Given the description of an element on the screen output the (x, y) to click on. 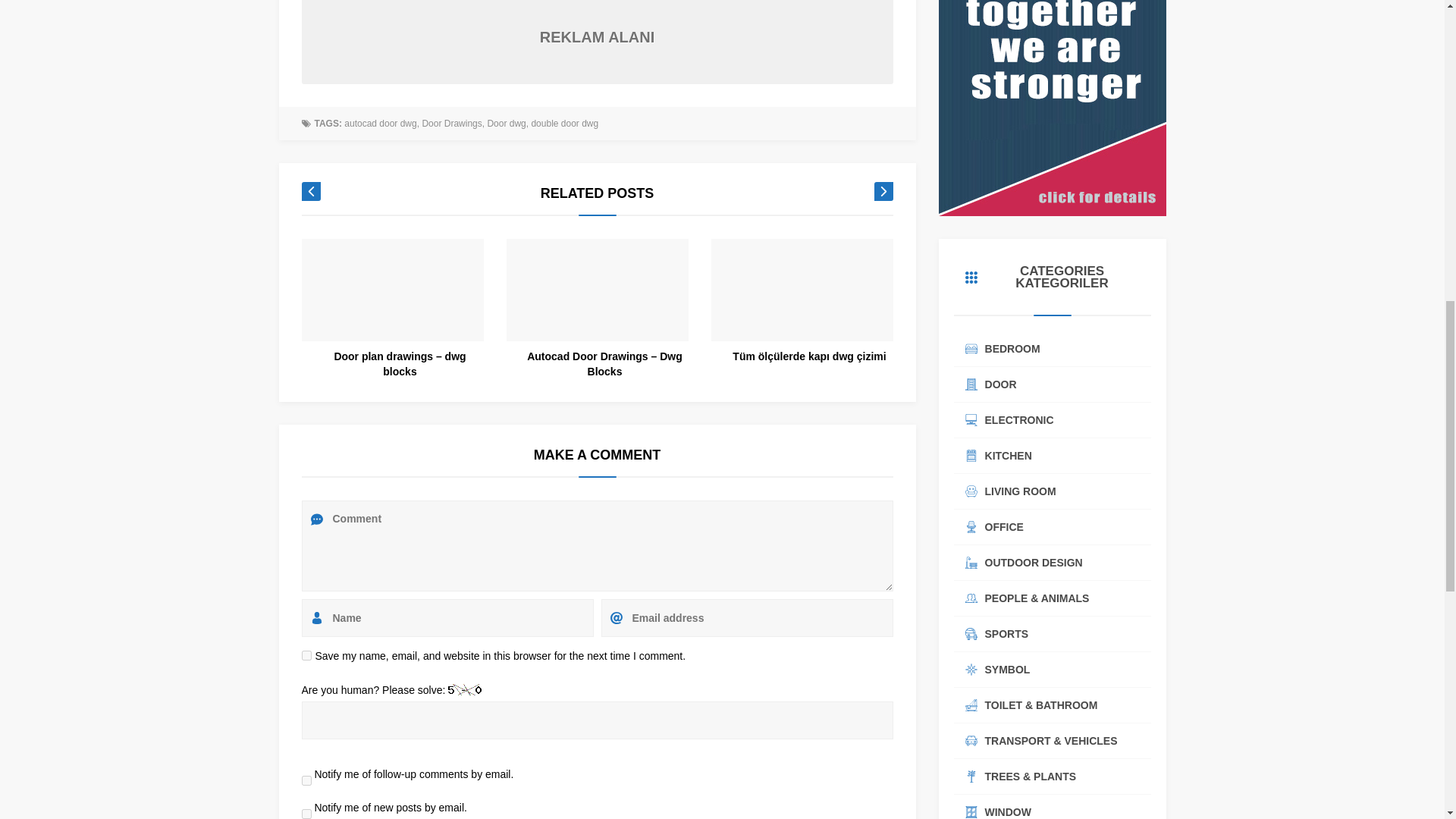
subscribe (306, 780)
yes (306, 655)
subscribe (306, 814)
